Given the description of an element on the screen output the (x, y) to click on. 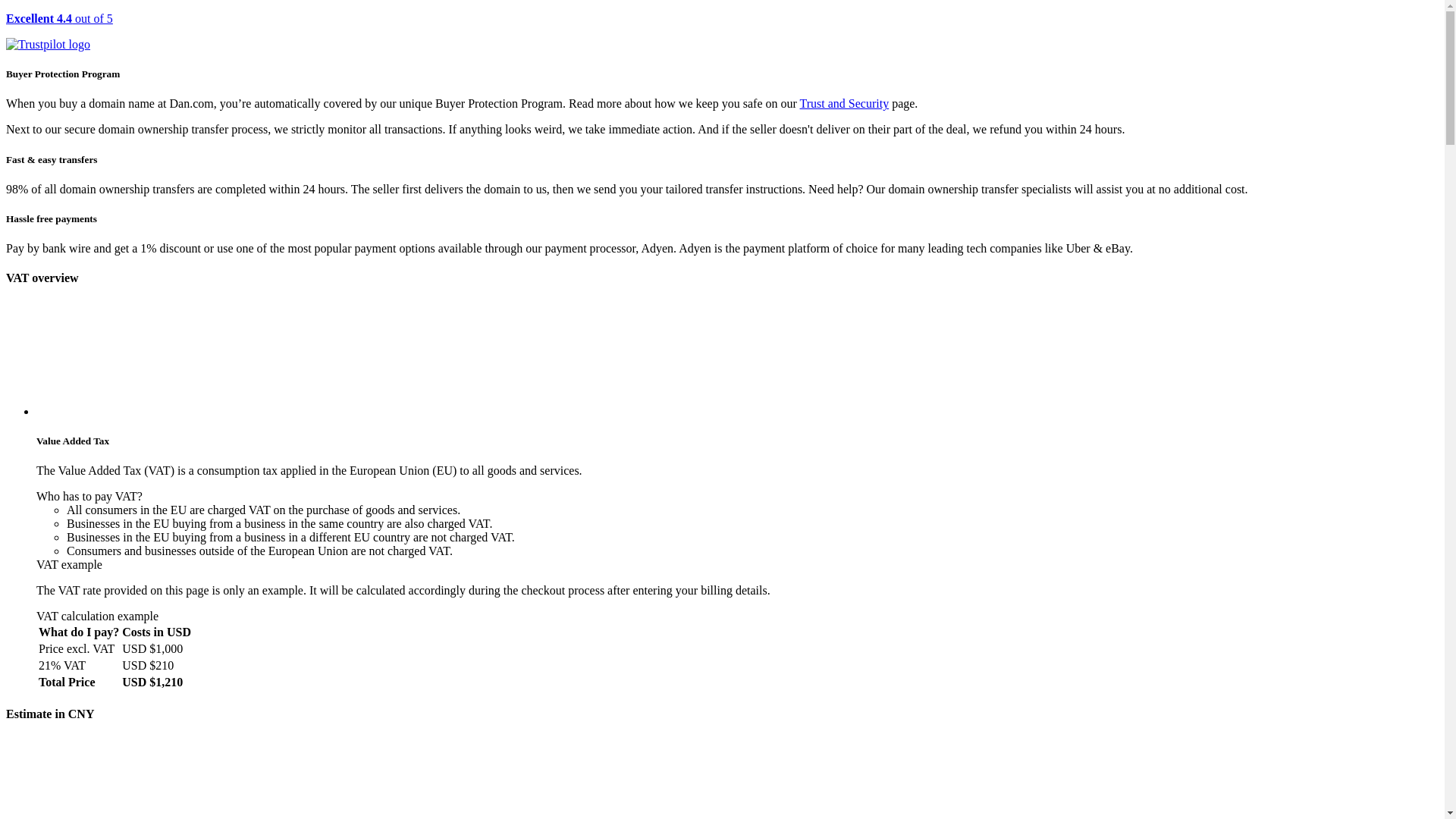
Excellent 4.4 out of 5 Element type: text (722, 31)
Trust and Security Element type: text (844, 103)
